Given the description of an element on the screen output the (x, y) to click on. 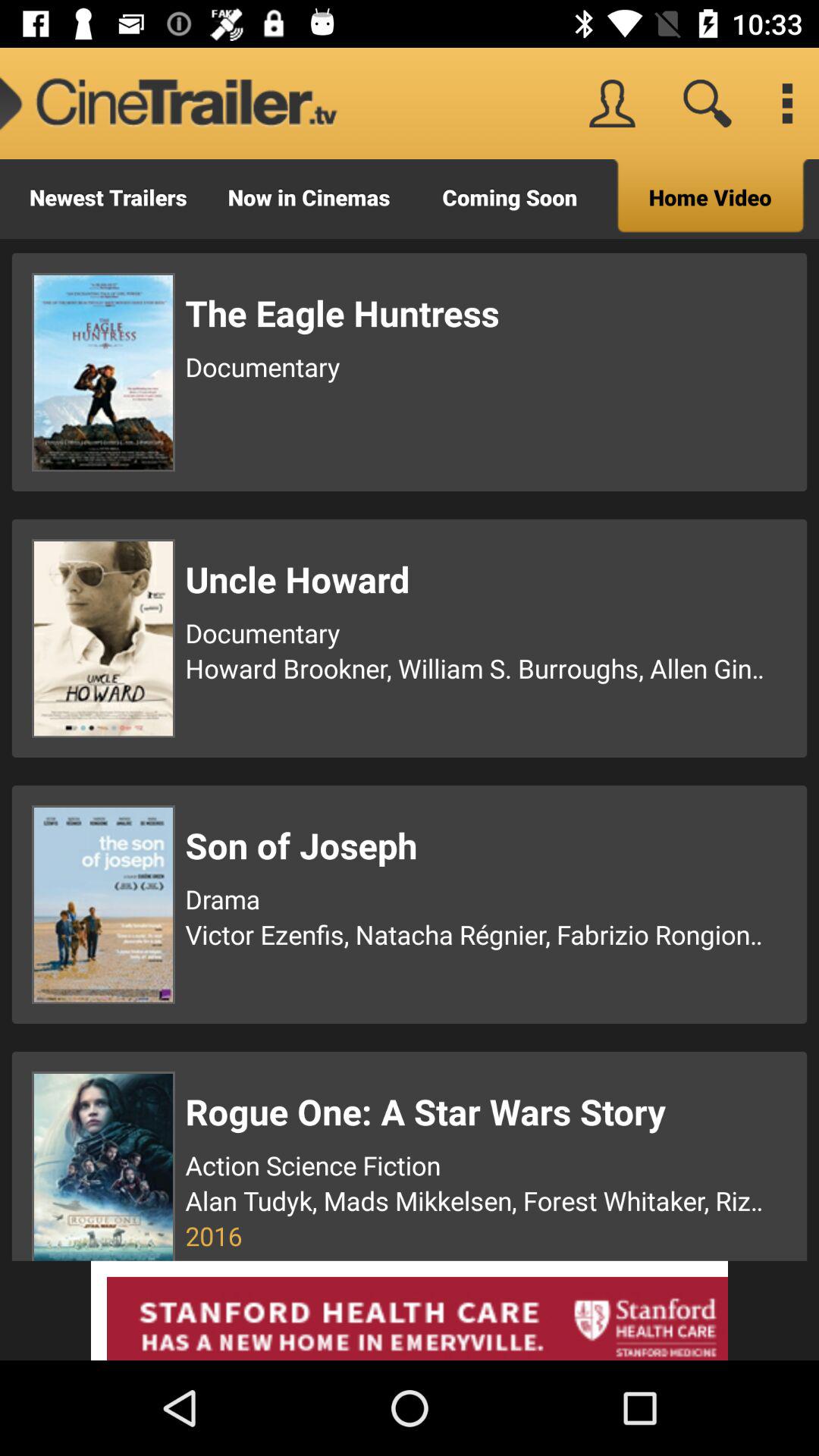
launch alan tudyk mads icon (476, 1200)
